Given the description of an element on the screen output the (x, y) to click on. 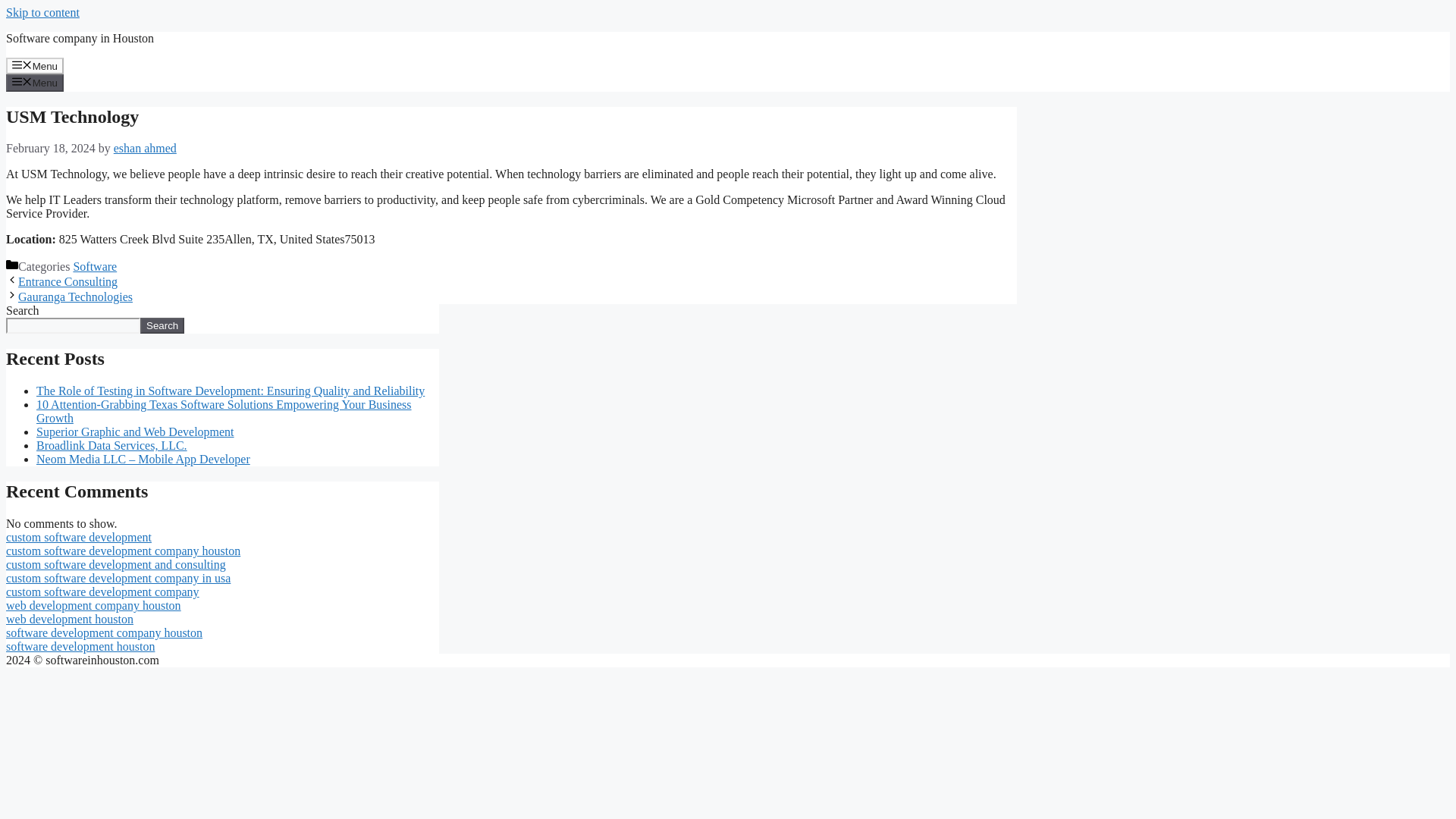
software development company houston (103, 632)
Menu (34, 82)
Superior Graphic and Web Development (135, 431)
Broadlink Data Services, LLC. (111, 445)
View all posts by eshan ahmed (144, 147)
eshan ahmed (144, 147)
Entrance Consulting (67, 281)
custom software development company (102, 591)
custom software development company houston (122, 550)
Search (161, 325)
Skip to content (42, 11)
web development company houston (92, 604)
custom software development and consulting (115, 563)
Gauranga Technologies (74, 296)
